Given the description of an element on the screen output the (x, y) to click on. 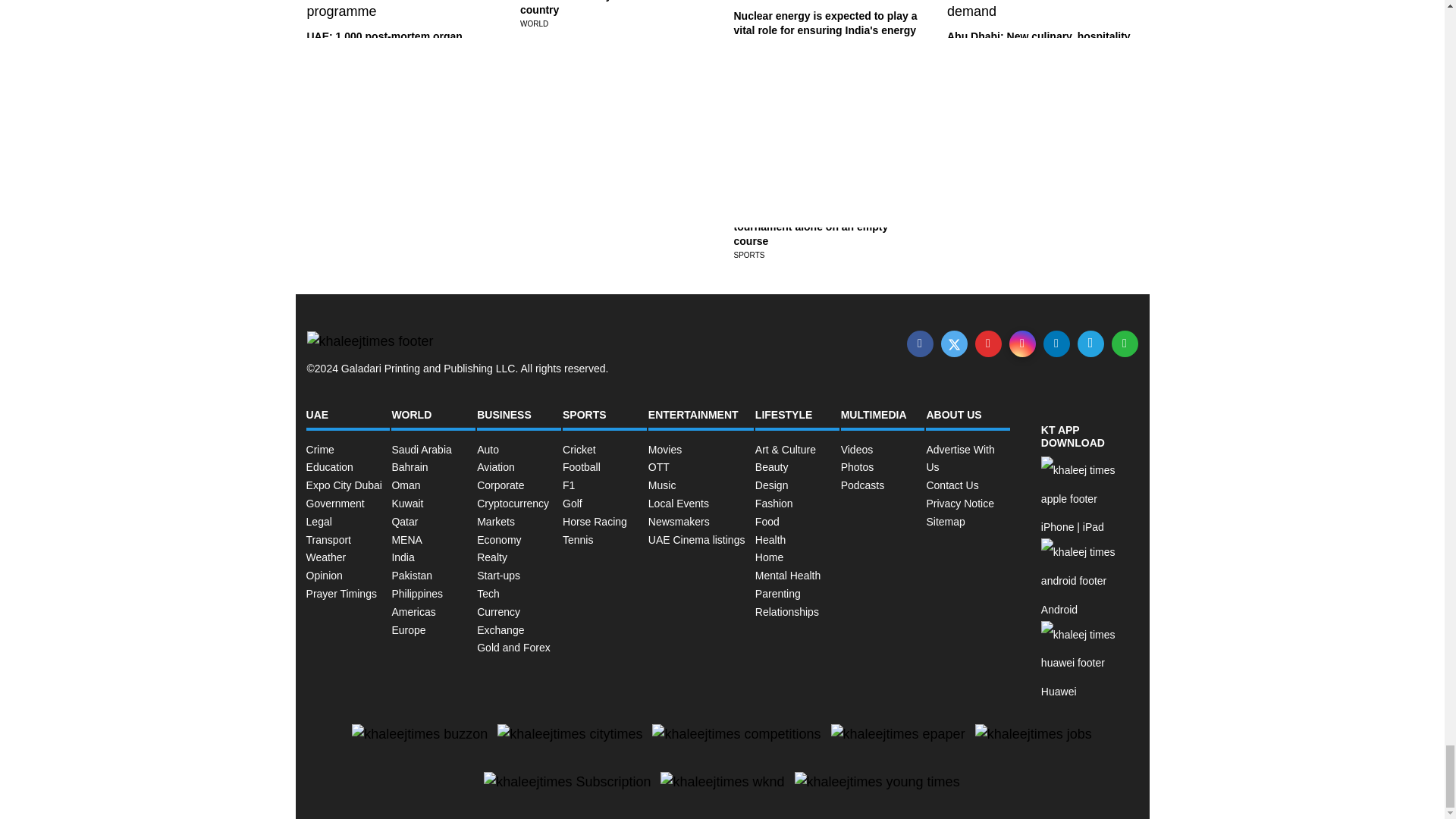
Iran holds military drill in north of country (603, 8)
